Given the description of an element on the screen output the (x, y) to click on. 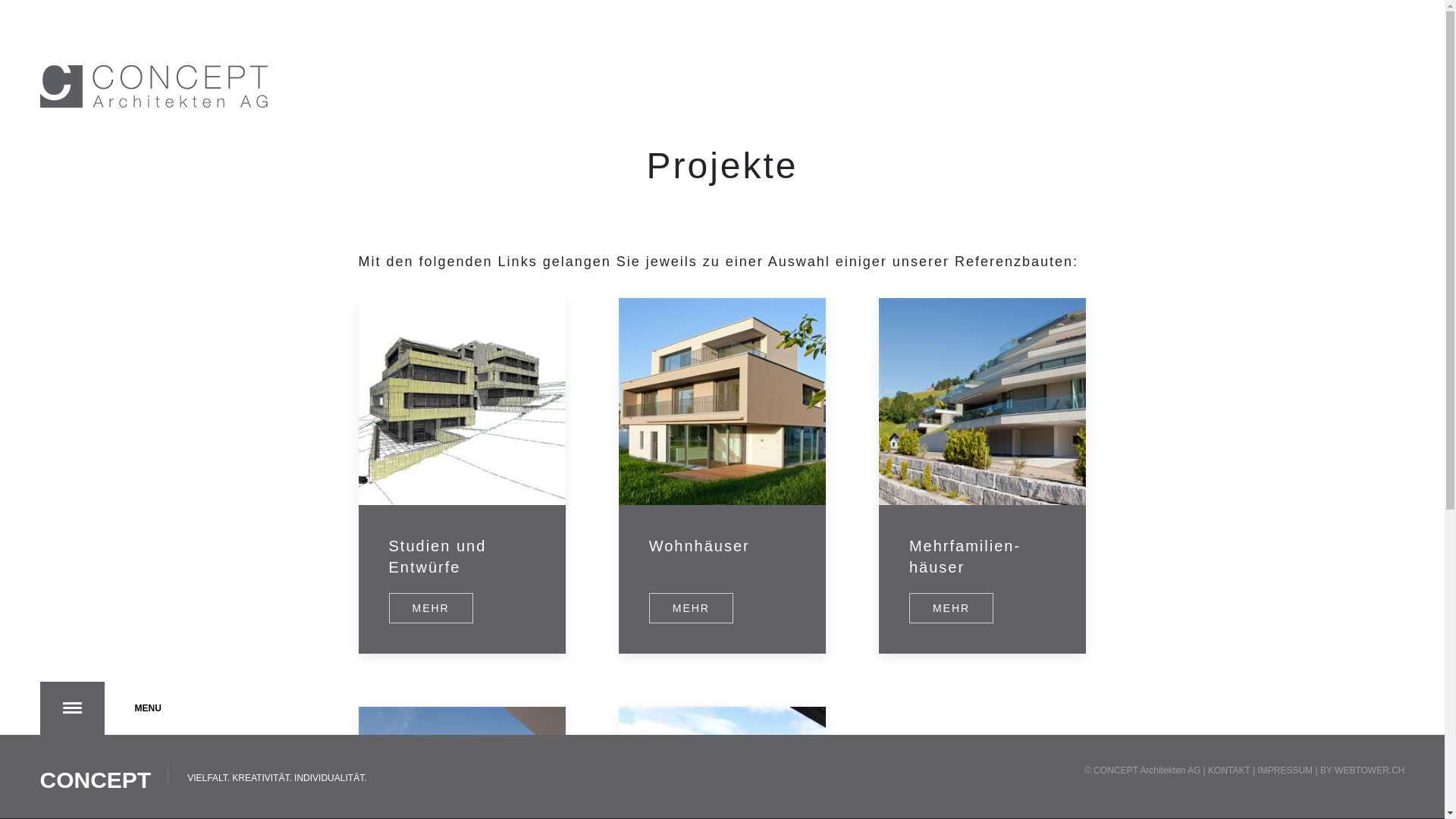
MEHR Element type: text (691, 608)
MEHR Element type: text (430, 608)
KONTAKT Element type: text (1229, 770)
MEHR Element type: text (951, 608)
IMPRESSUM Element type: text (1284, 770)
